Given the description of an element on the screen output the (x, y) to click on. 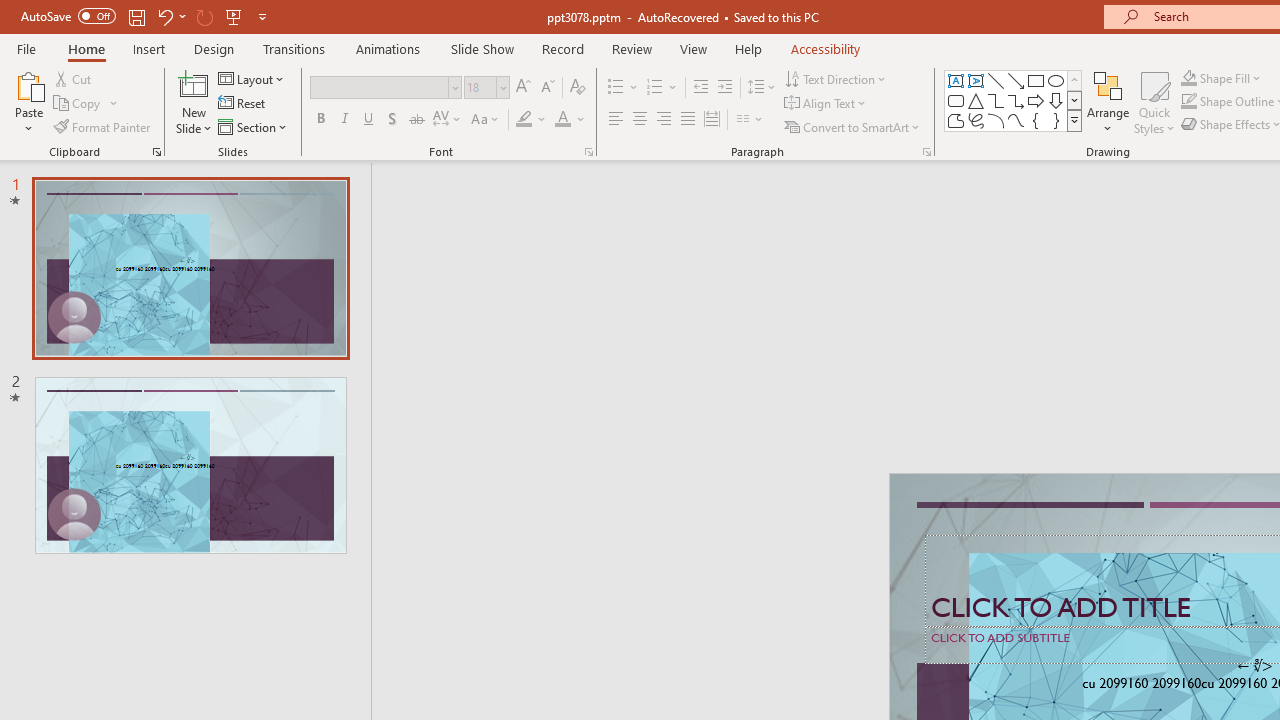
Office Clipboard... (156, 151)
Text Highlight Color Yellow (524, 119)
Format Painter (103, 126)
